Given the description of an element on the screen output the (x, y) to click on. 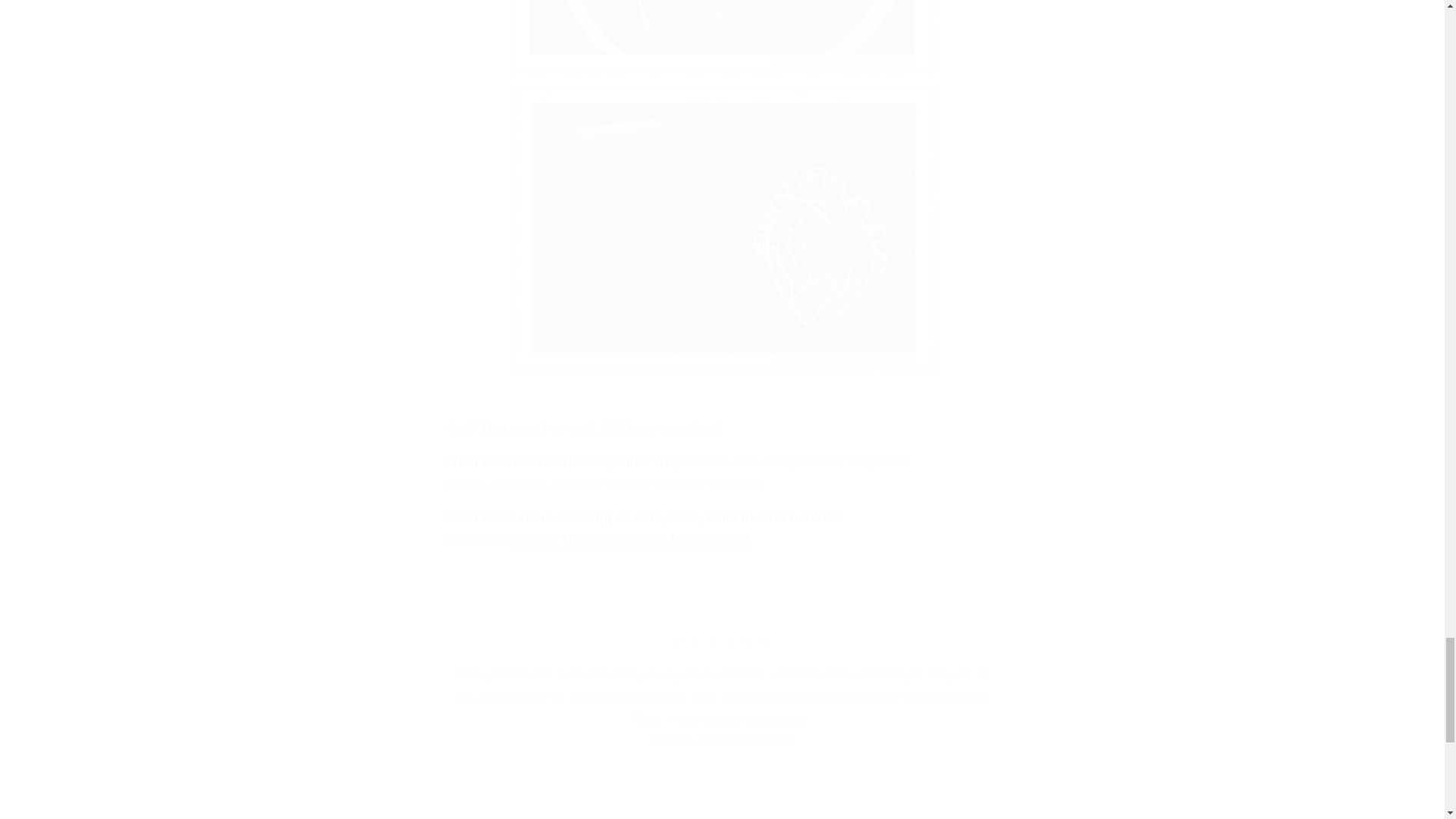
As seen in (244, 799)
0 (1198, 799)
As seen in (721, 784)
0 (435, 799)
0 (816, 799)
0 (626, 799)
0 (1007, 799)
